Given the description of an element on the screen output the (x, y) to click on. 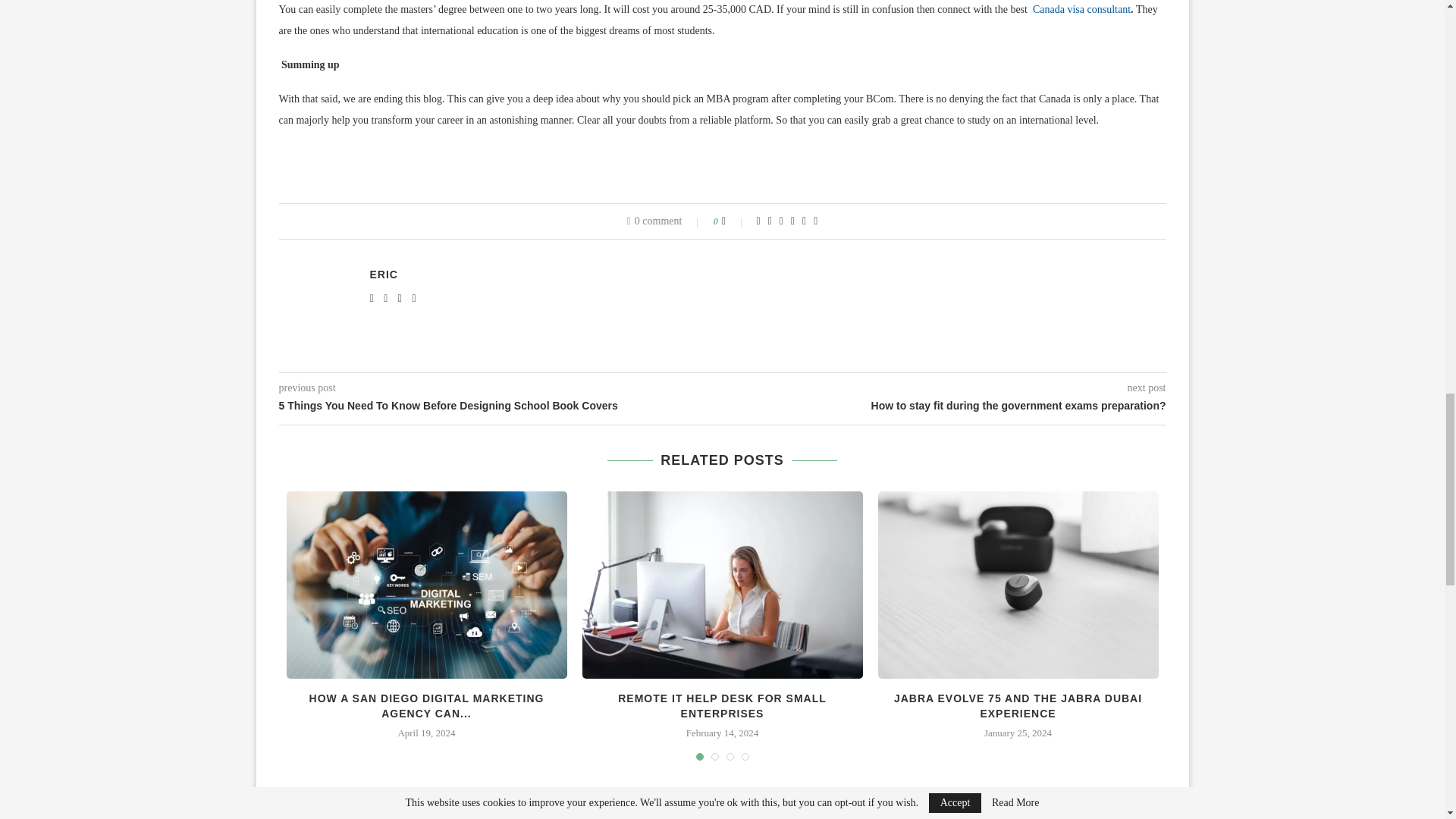
Remote IT Help Desk for Small Enterprises (722, 584)
Like (733, 221)
JABRA EVOLVE 75 and the Jabra Dubai Experience (1017, 584)
Posts by Eric (383, 274)
